Given the description of an element on the screen output the (x, y) to click on. 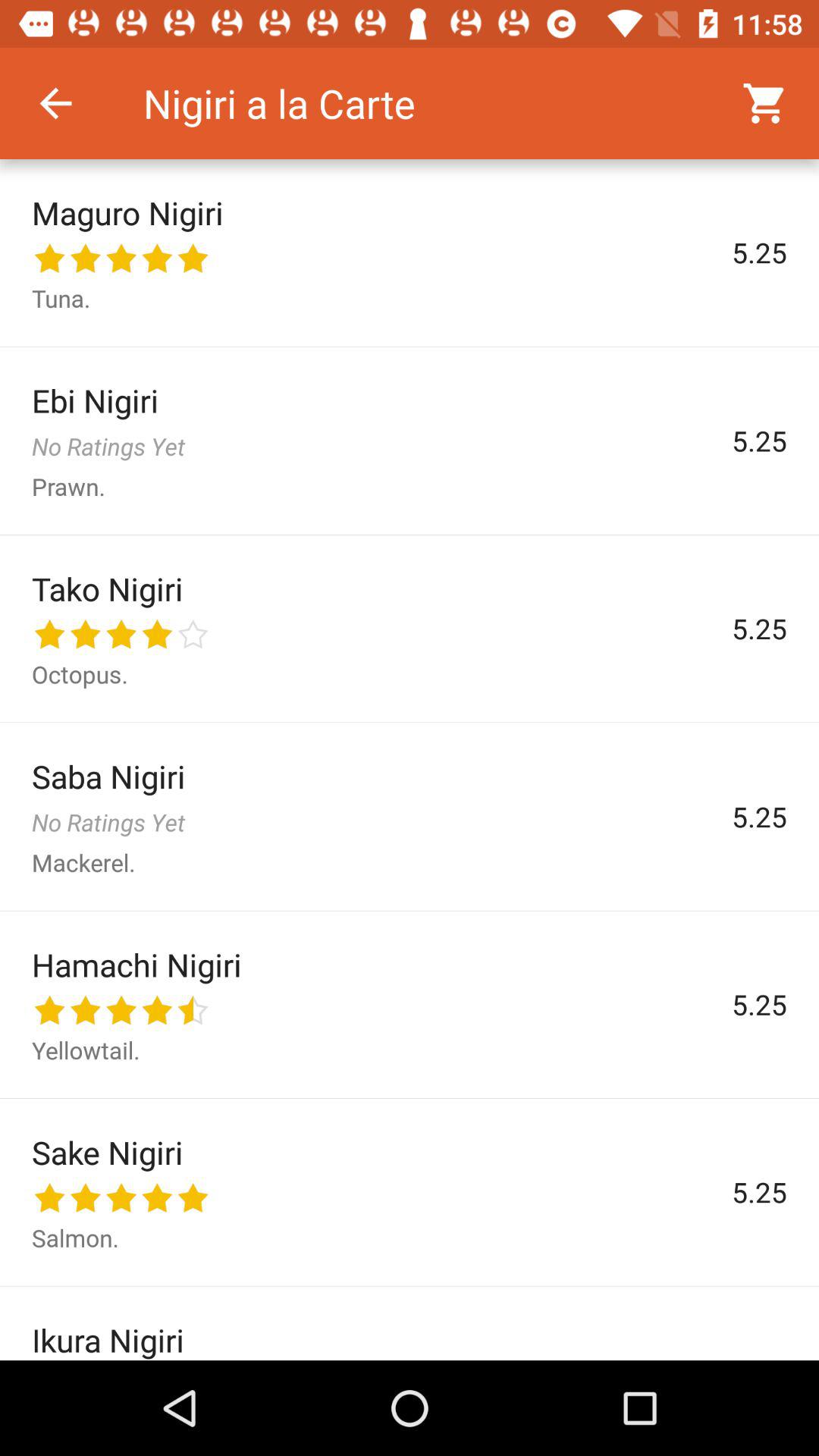
choose the icon above the maguro nigiri (55, 103)
